Given the description of an element on the screen output the (x, y) to click on. 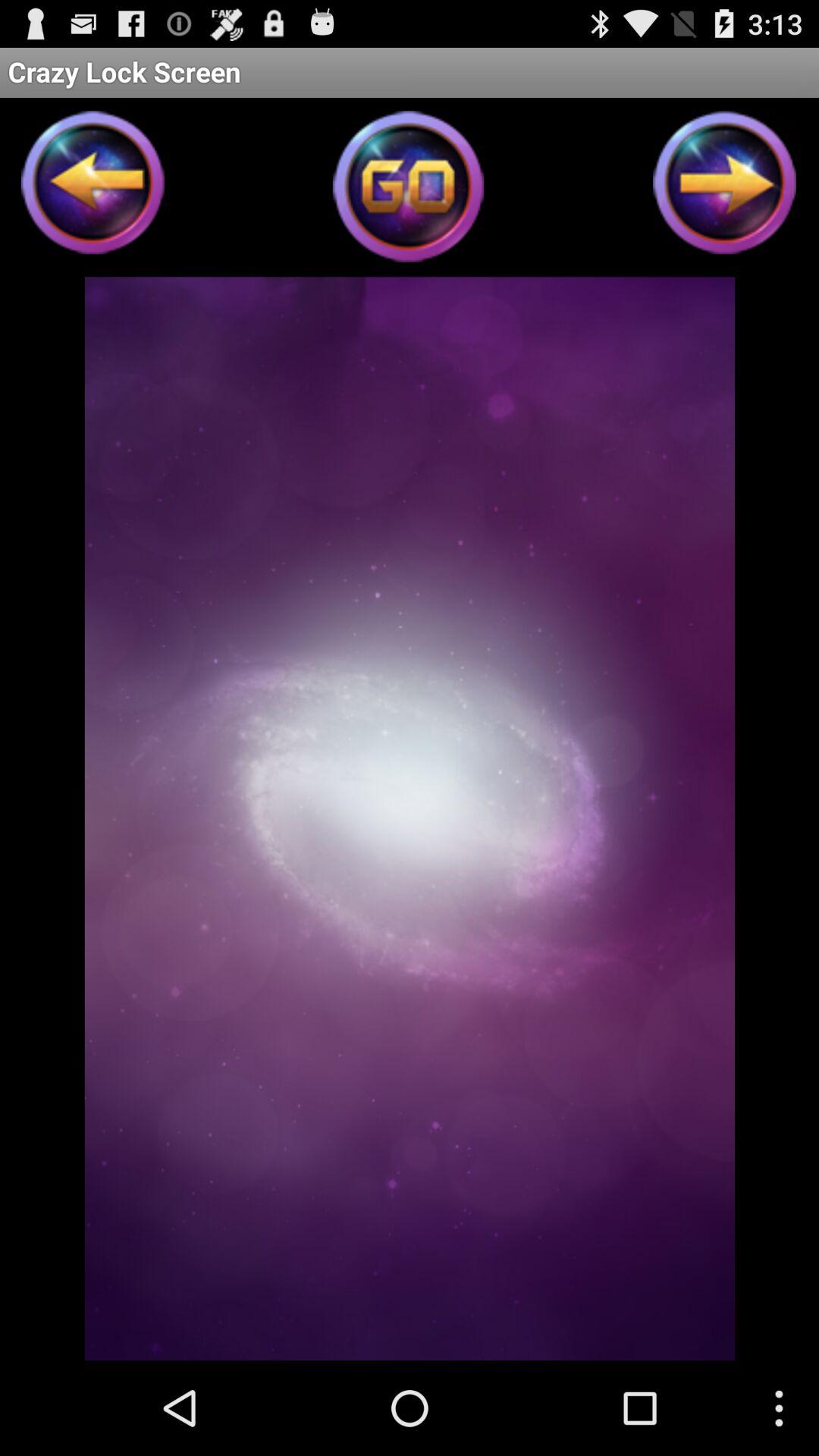
back (93, 186)
